Given the description of an element on the screen output the (x, y) to click on. 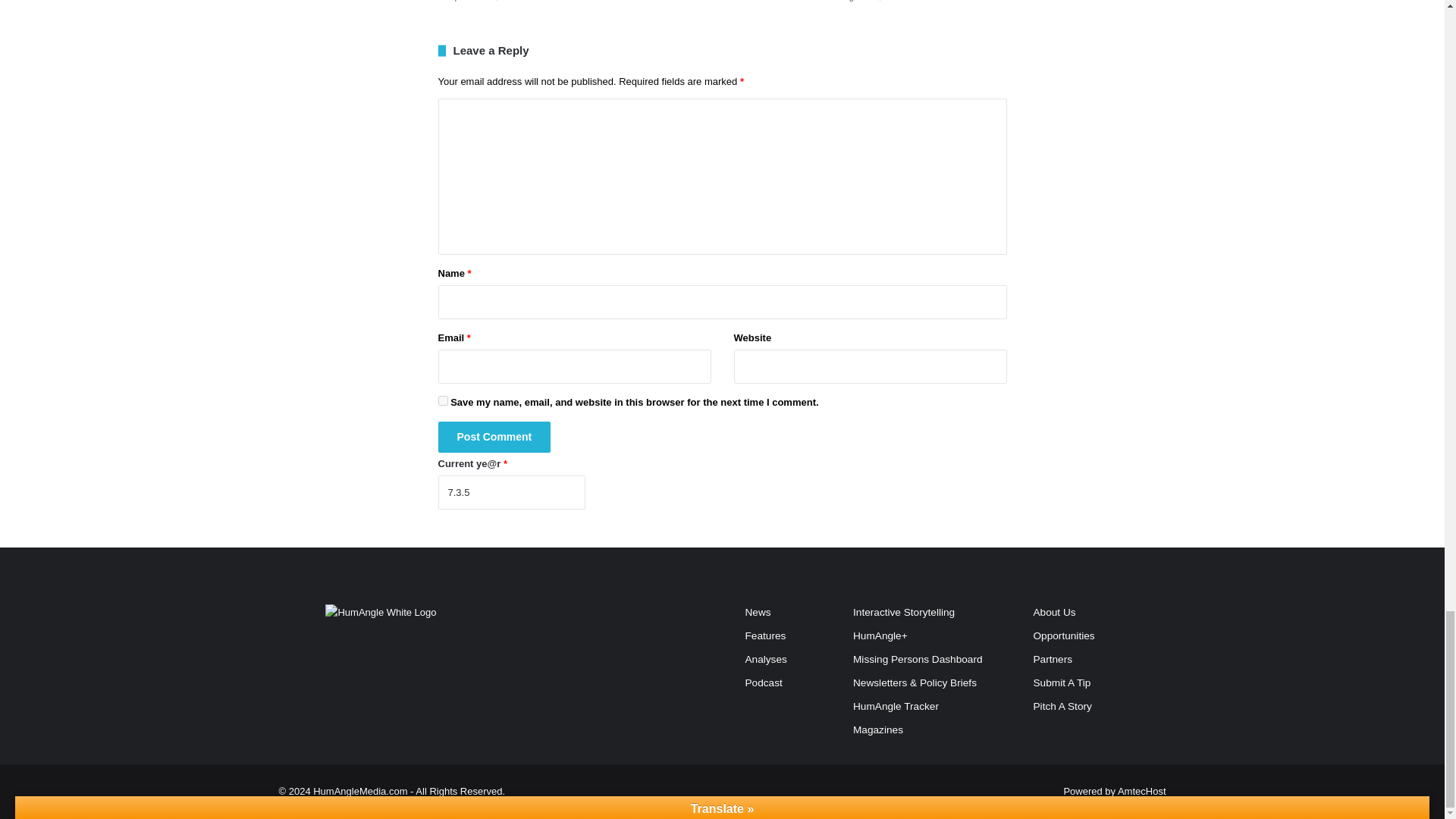
Post Comment (494, 436)
yes (443, 400)
7.3.5 (511, 492)
